Given the description of an element on the screen output the (x, y) to click on. 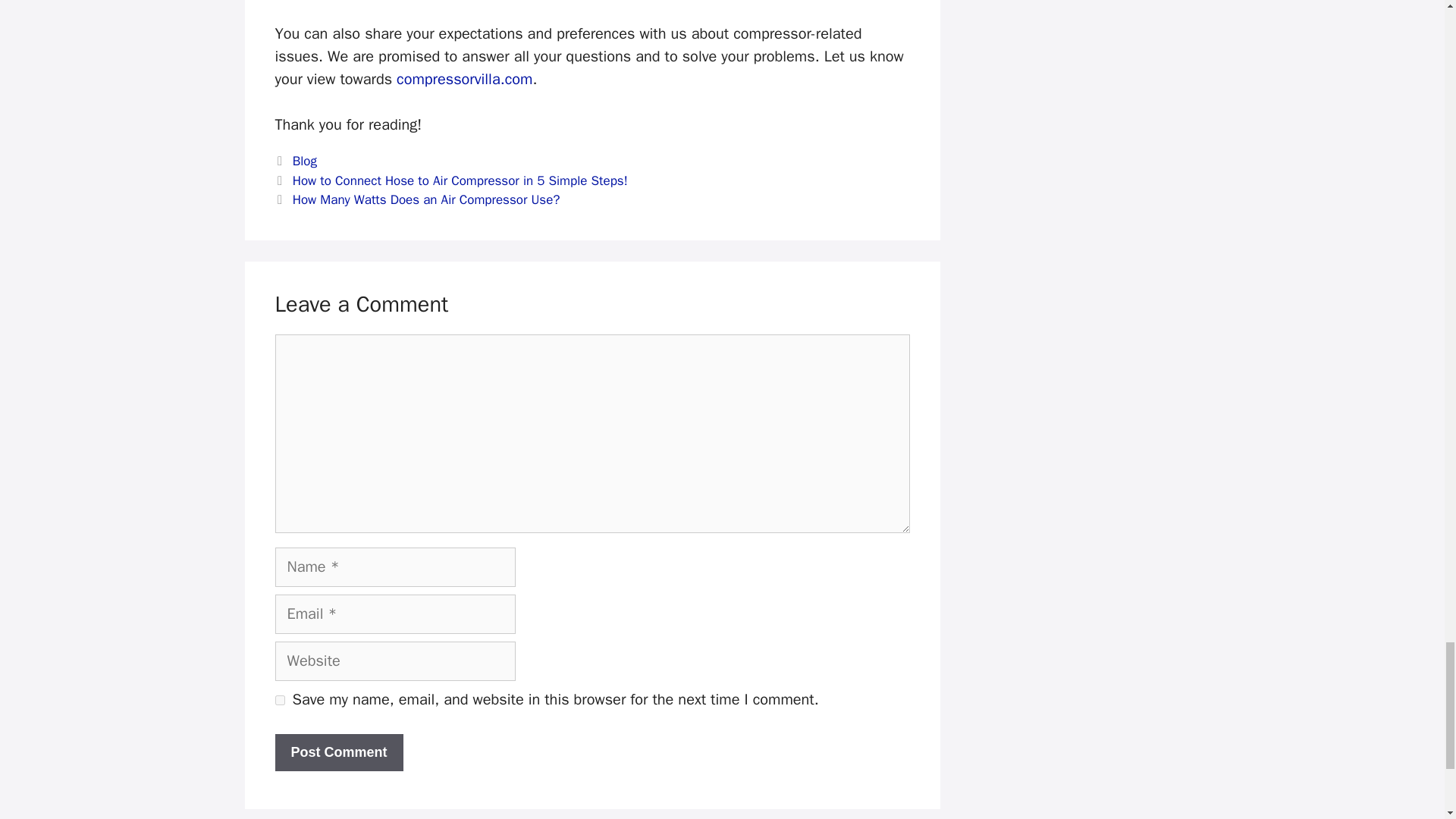
How Many Watts Does an Air Compressor Use? (426, 199)
compressorvilla.com (464, 78)
How to Connect Hose to Air Compressor in 5 Simple Steps! (459, 180)
Blog (304, 160)
Post Comment (339, 752)
Post Comment (339, 752)
yes (279, 700)
